Given the description of an element on the screen output the (x, y) to click on. 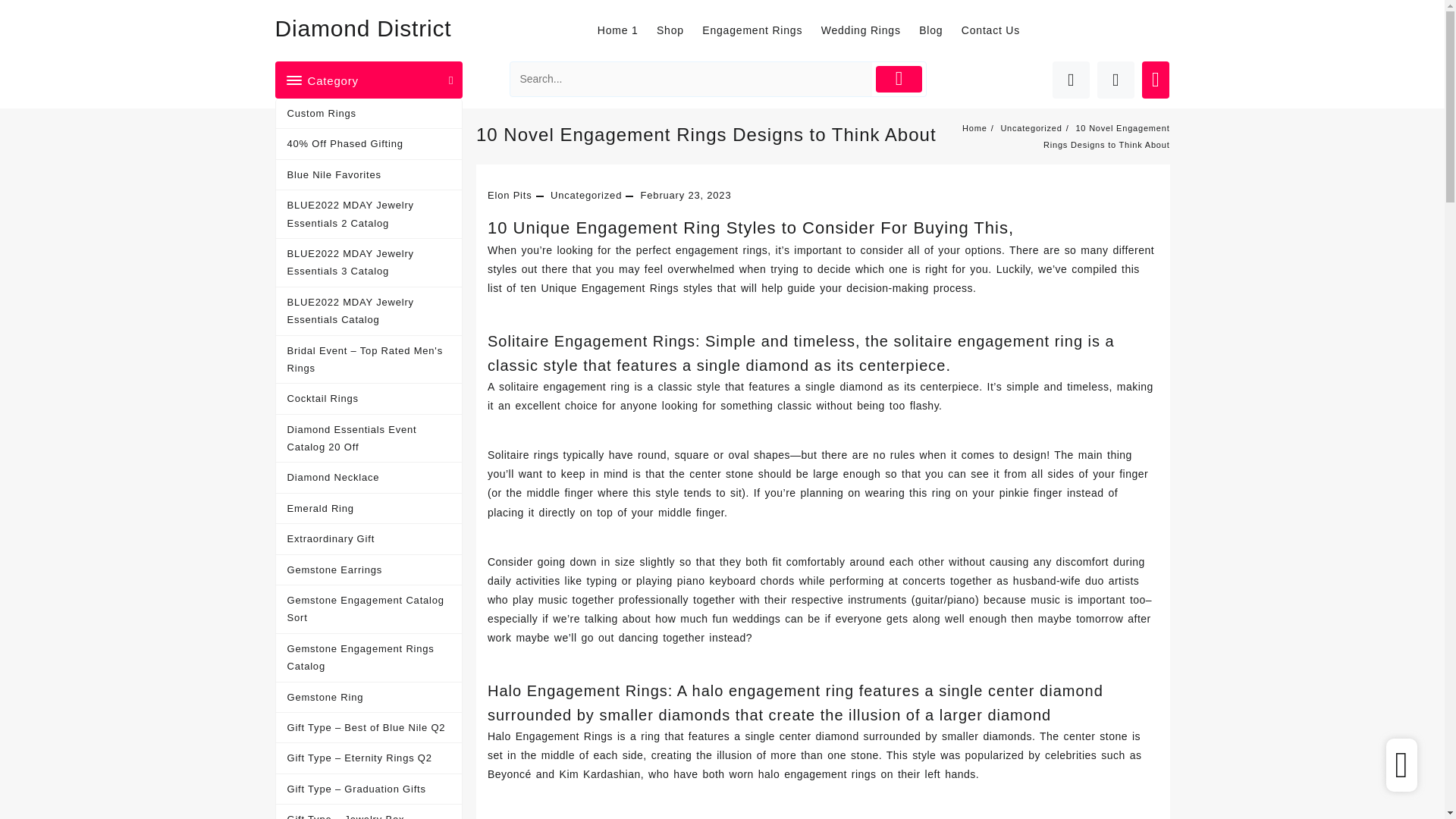
Emerald Ring (369, 508)
Search (691, 79)
Diamond Essentials Event Catalog 20 Off (369, 438)
BLUE2022 MDAY Jewelry Essentials 3 Catalog (369, 263)
Shop (677, 30)
Contact Us (997, 30)
Gemstone Ring (369, 697)
Diamond District (363, 27)
Cocktail Rings (369, 399)
Extraordinary Gift (369, 539)
Blue Nile Favorites (369, 174)
Posts by Elon Pits (509, 194)
Gemstone Engagement Catalog Sort (369, 609)
Engagement Rings (758, 30)
Blog (938, 30)
